Given the description of an element on the screen output the (x, y) to click on. 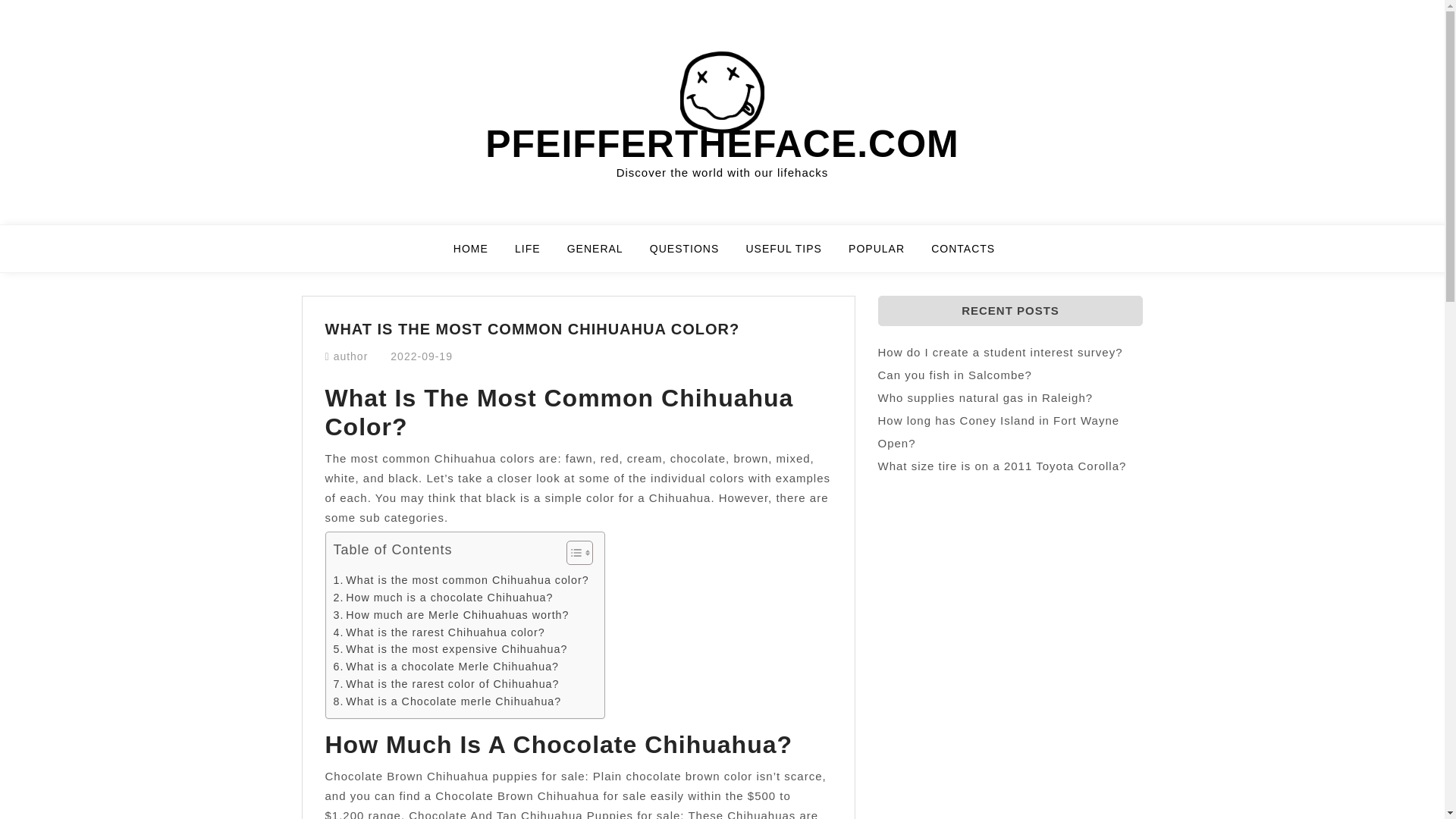
How much is a chocolate Chihuahua? (443, 597)
What is the rarest color of Chihuahua? (446, 683)
How much is a chocolate Chihuahua? (443, 597)
author (350, 356)
What is a Chocolate merle Chihuahua? (447, 701)
GENERAL (604, 255)
What is the most expensive Chihuahua? (450, 649)
LIFE (537, 255)
Can you fish in Salcombe? (954, 374)
What is the most common Chihuahua color? (461, 579)
